Given the description of an element on the screen output the (x, y) to click on. 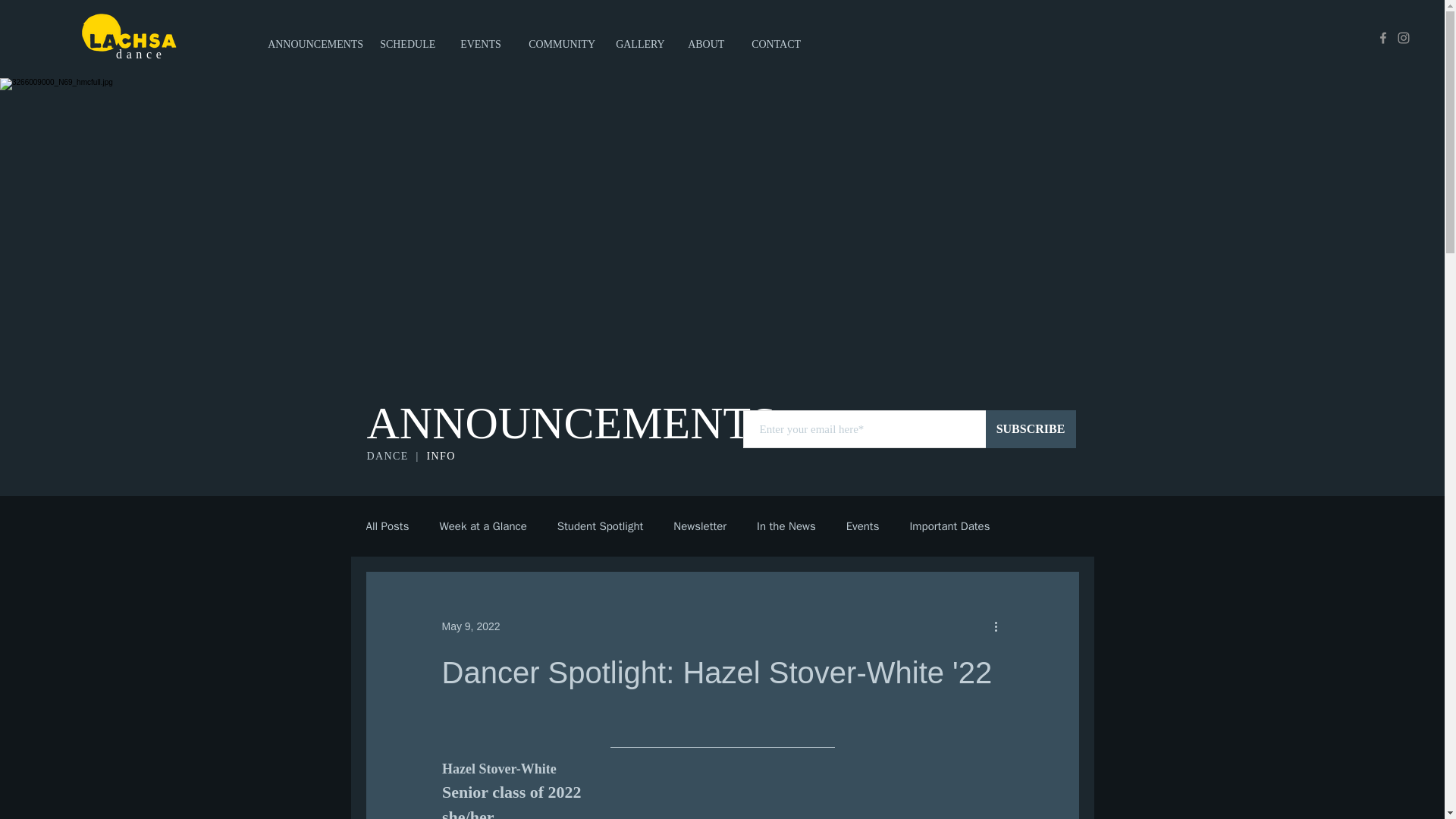
Important Dates (949, 526)
Student Spotlight (600, 526)
CONTACT (779, 37)
Week at a Glance (482, 526)
SUBSCRIBE (1030, 428)
Newsletter (699, 526)
DANCE   (391, 455)
May 9, 2022 (470, 625)
dance (140, 53)
Events (862, 526)
In the News (786, 526)
All Posts (387, 526)
